Given the description of an element on the screen output the (x, y) to click on. 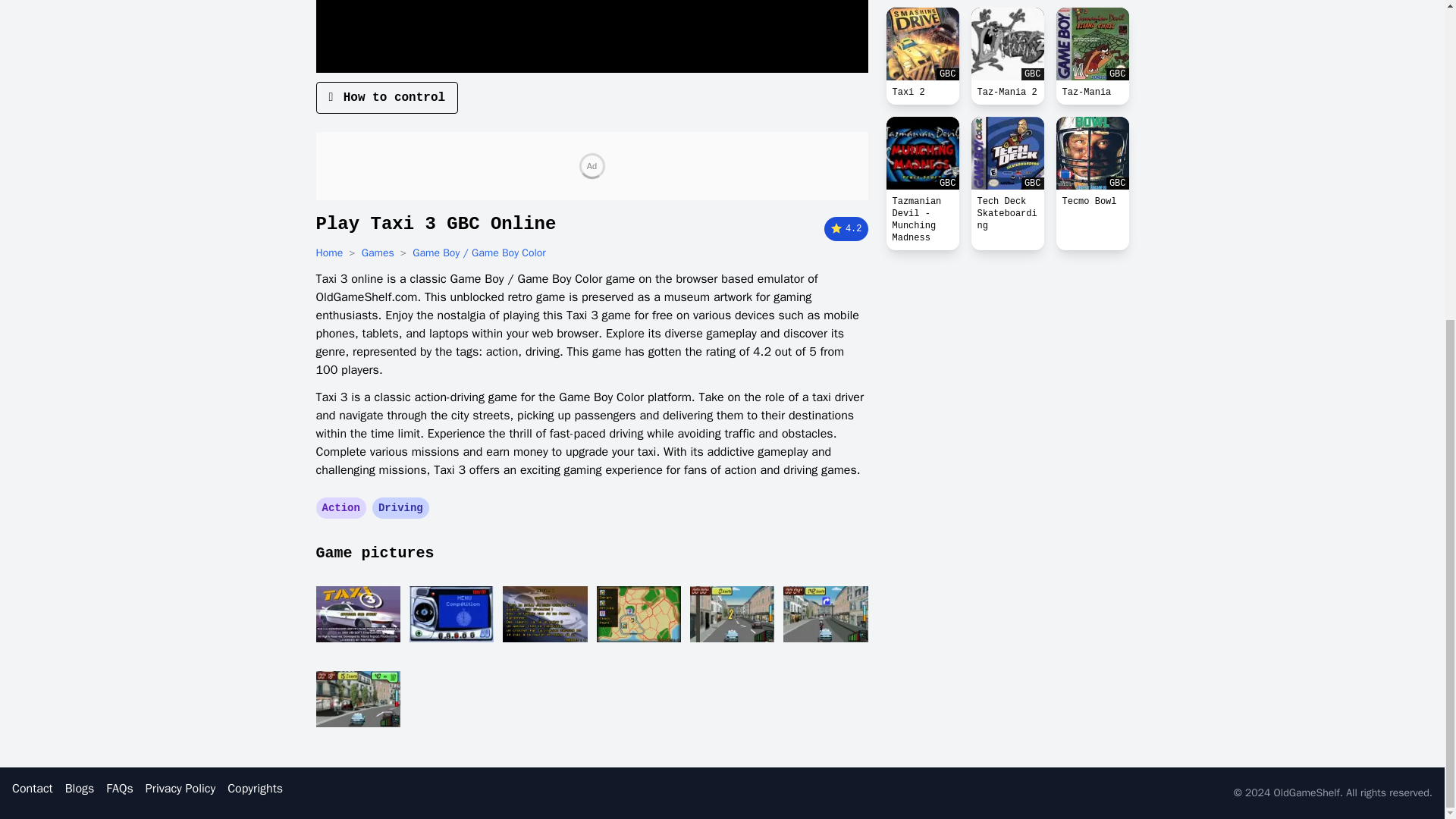
Copyrights (254, 788)
FAQs (119, 788)
Driving (400, 508)
GBC (1091, 43)
Taz-Mania 2 (1007, 92)
Driving (400, 508)
Taxi 3 game screenshot 1 (356, 614)
Taz-Mania (1091, 92)
Action (340, 508)
Taxi 3 game screenshot 3 (544, 614)
